Given the description of an element on the screen output the (x, y) to click on. 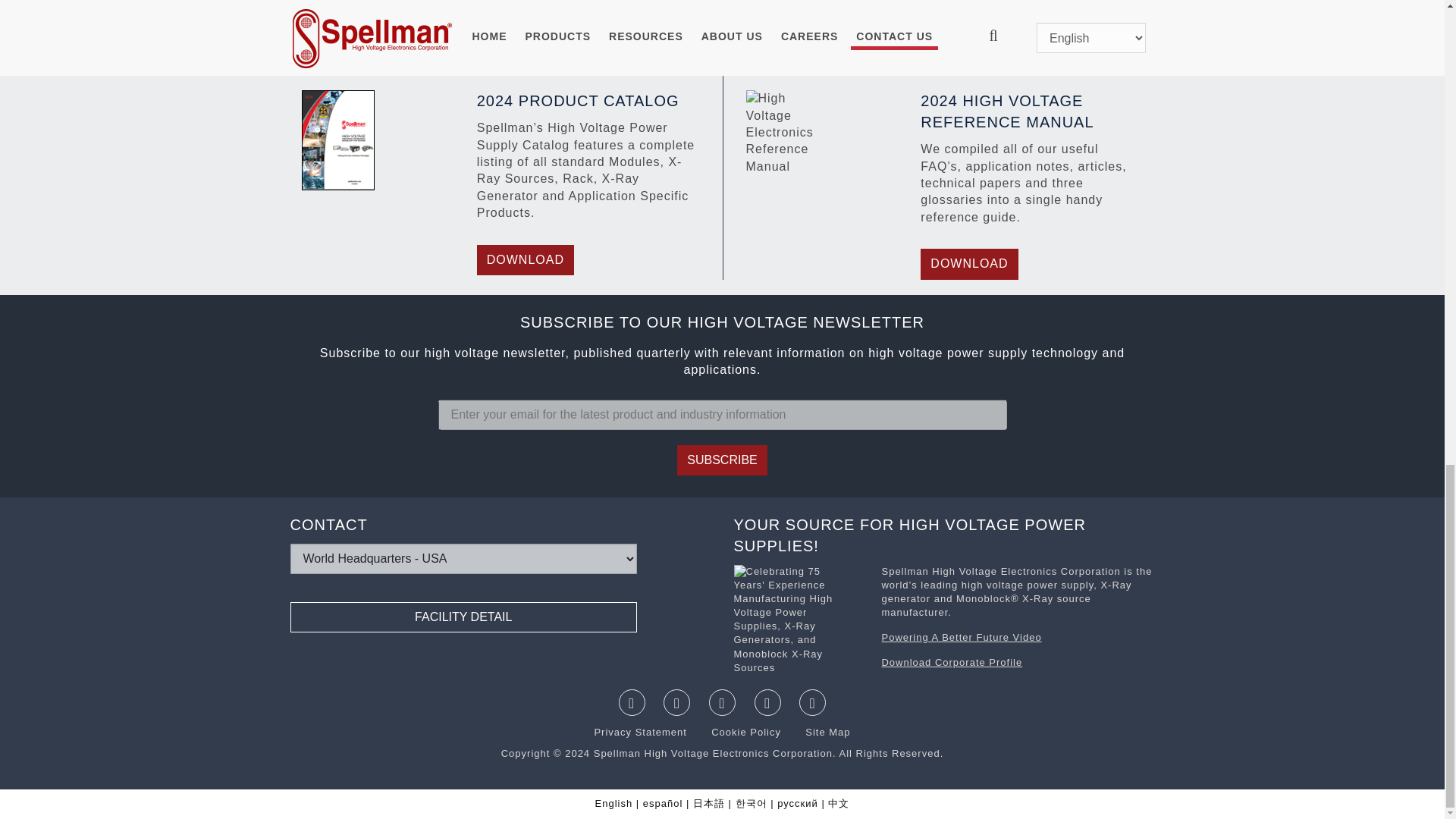
DOWNLOAD (525, 259)
SUBSCRIBE (722, 460)
Download the Corporate Profile (799, 621)
Download Corporate Profile (951, 662)
      Cookie Policy (737, 731)
English (614, 803)
Privacy Statement (642, 731)
Powering A Better Future Video (960, 636)
FACILITY DETAIL (463, 616)
DOWNLOAD (968, 263)
